Given the description of an element on the screen output the (x, y) to click on. 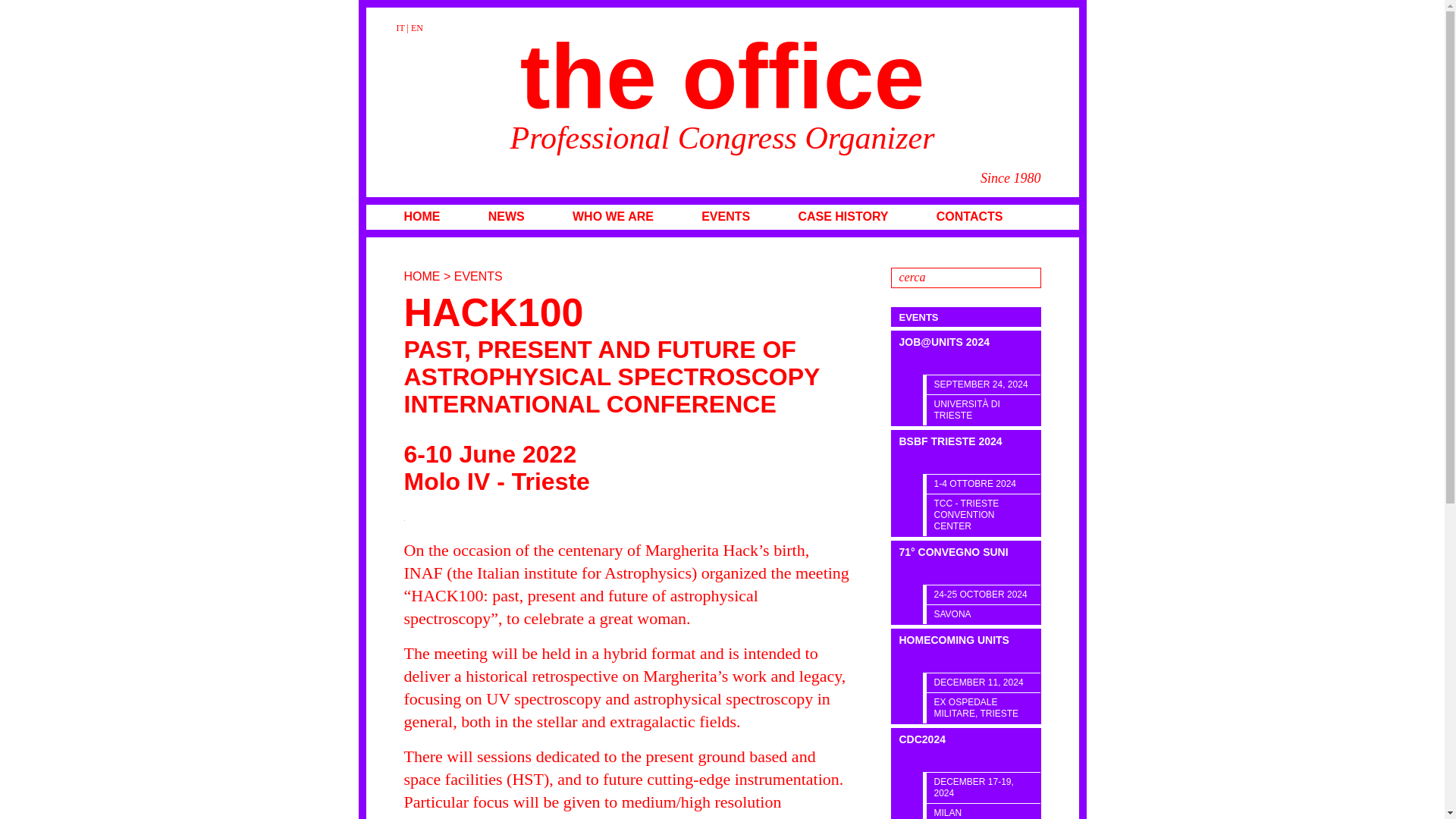
the office (721, 76)
HOMECOMING UNITS (966, 650)
CASE HISTORY (842, 215)
MILAN (983, 811)
cerca (965, 277)
SEPTEMBER 24, 2024 (983, 383)
WHO WE ARE (612, 215)
CONTACTS (969, 215)
The Office (721, 76)
DECEMBER 17-19, 2024 (983, 787)
